Given the description of an element on the screen output the (x, y) to click on. 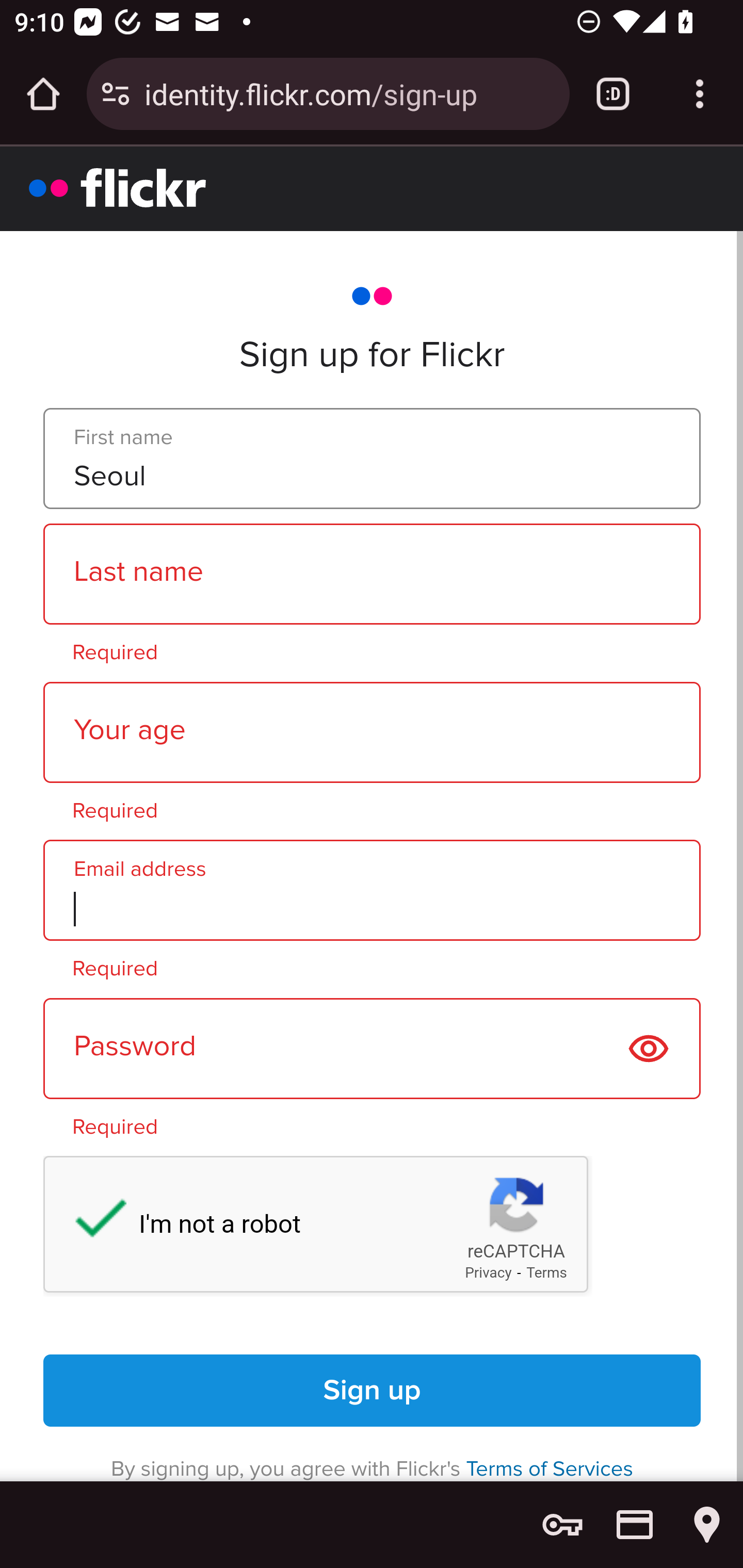
Open the home page (43, 93)
Connection is secure (115, 93)
Switch or close tabs (612, 93)
Customize and control Google Chrome (699, 93)
identity.flickr.com/sign-up (349, 92)
Flickr Logo (117, 186)
Seoul (371, 459)
I'm not a robot (91, 1222)
Privacy (488, 1272)
Terms (546, 1272)
Sign up (372, 1390)
Terms of Services (549, 1468)
Show saved passwords and password options (562, 1524)
Show saved payment methods (634, 1524)
Show saved addresses (706, 1524)
